Given the description of an element on the screen output the (x, y) to click on. 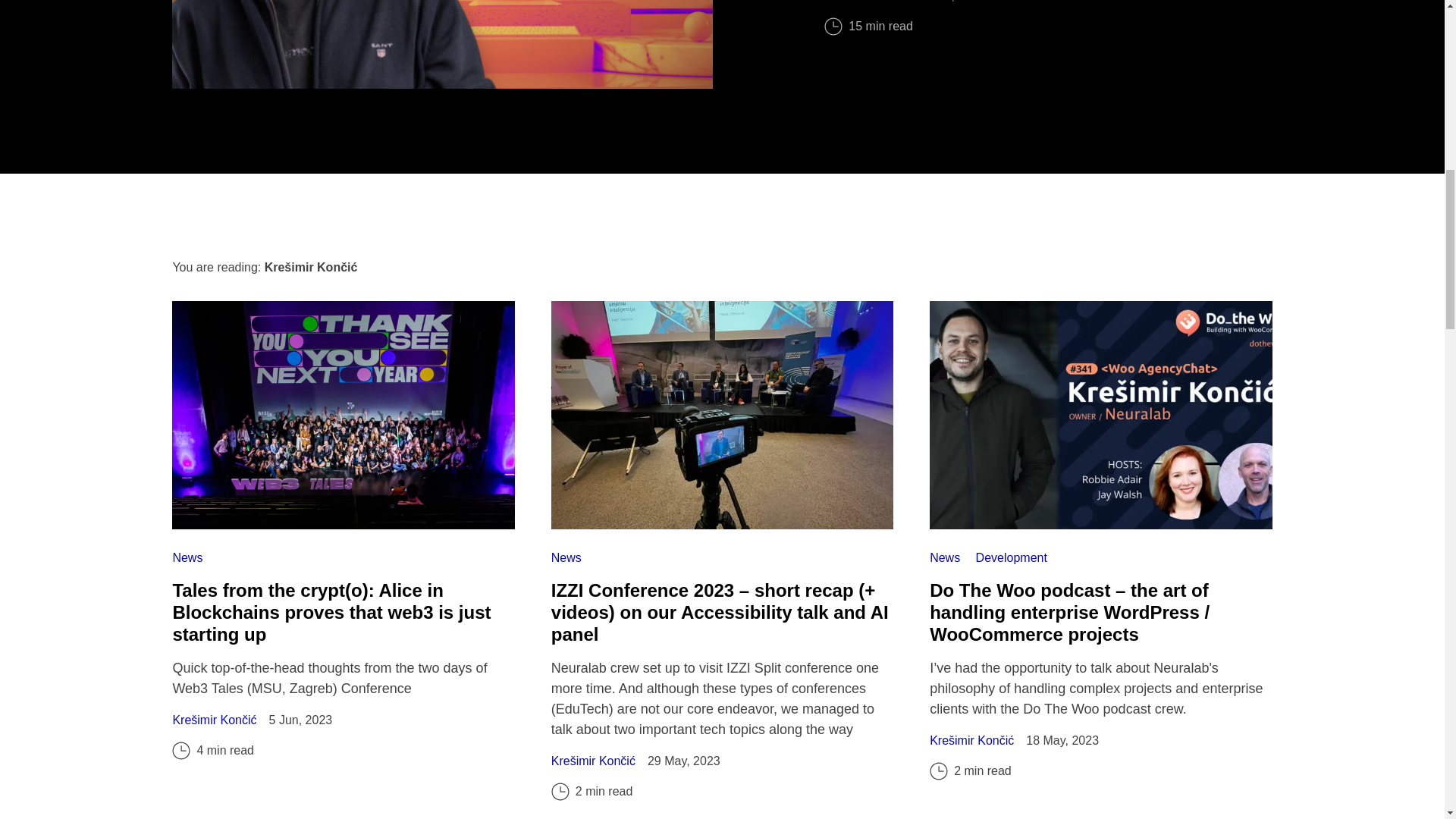
News (565, 557)
News (946, 557)
Development (1010, 557)
News (186, 557)
